Given the description of an element on the screen output the (x, y) to click on. 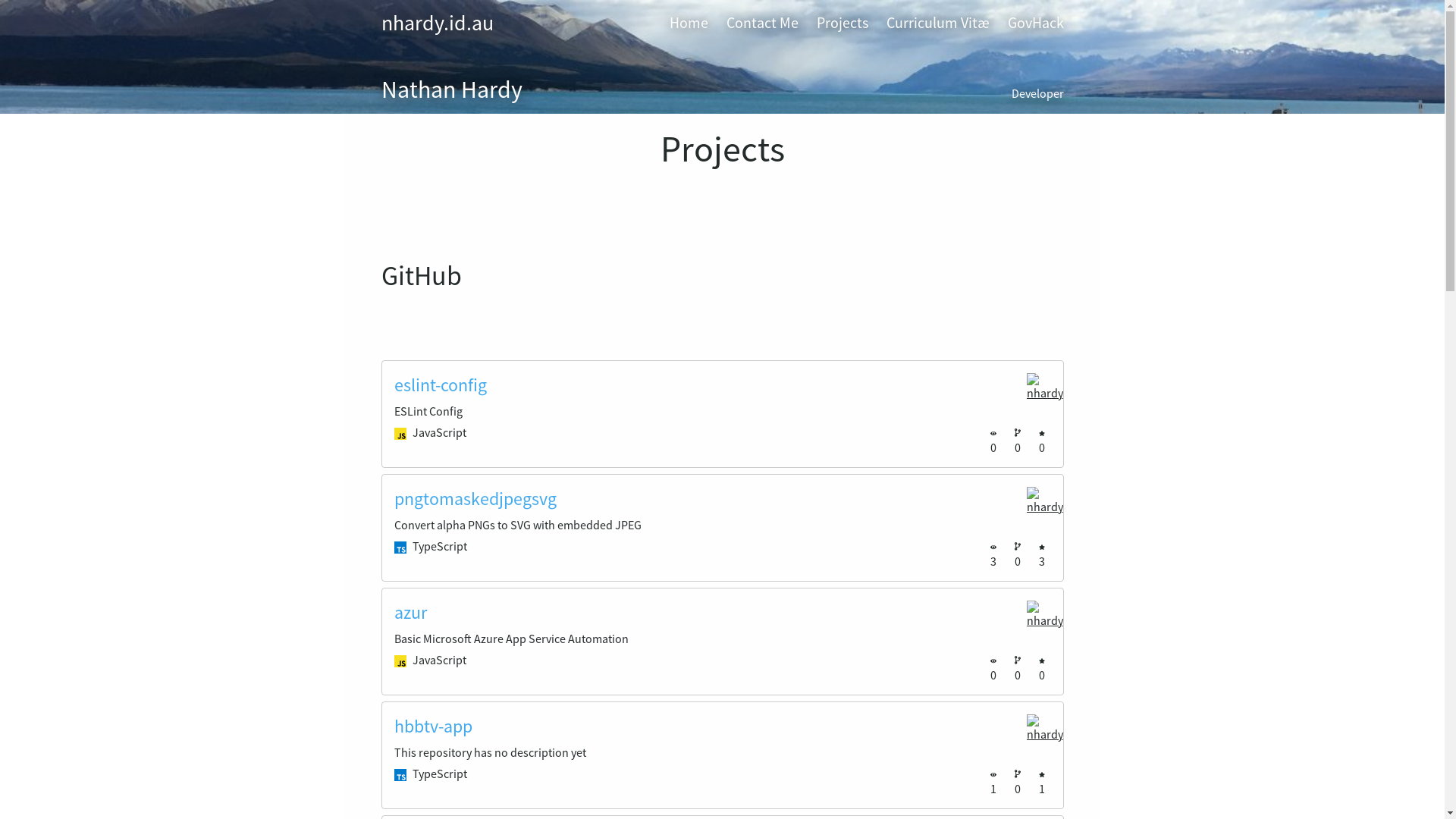
0 Element type: text (1020, 780)
1 Element type: text (1044, 780)
0 Element type: text (1044, 667)
0 Element type: text (1044, 439)
Contact Me Element type: text (762, 21)
pngtomaskedjpegsvg Element type: text (475, 498)
0 Element type: text (1020, 553)
GovHack Element type: text (1035, 21)
Home Element type: text (687, 21)
nhardy.id.au Element type: text (436, 22)
eslint-config Element type: text (440, 384)
hbbtv-app Element type: text (433, 725)
0 Element type: text (1020, 439)
azur Element type: text (410, 612)
3 Element type: text (1044, 553)
0 Element type: text (996, 439)
0 Element type: text (996, 667)
Projects Element type: text (841, 21)
1 Element type: text (996, 780)
0 Element type: text (1020, 667)
3 Element type: text (996, 553)
Nathan Hardy Element type: text (450, 89)
